Given the description of an element on the screen output the (x, y) to click on. 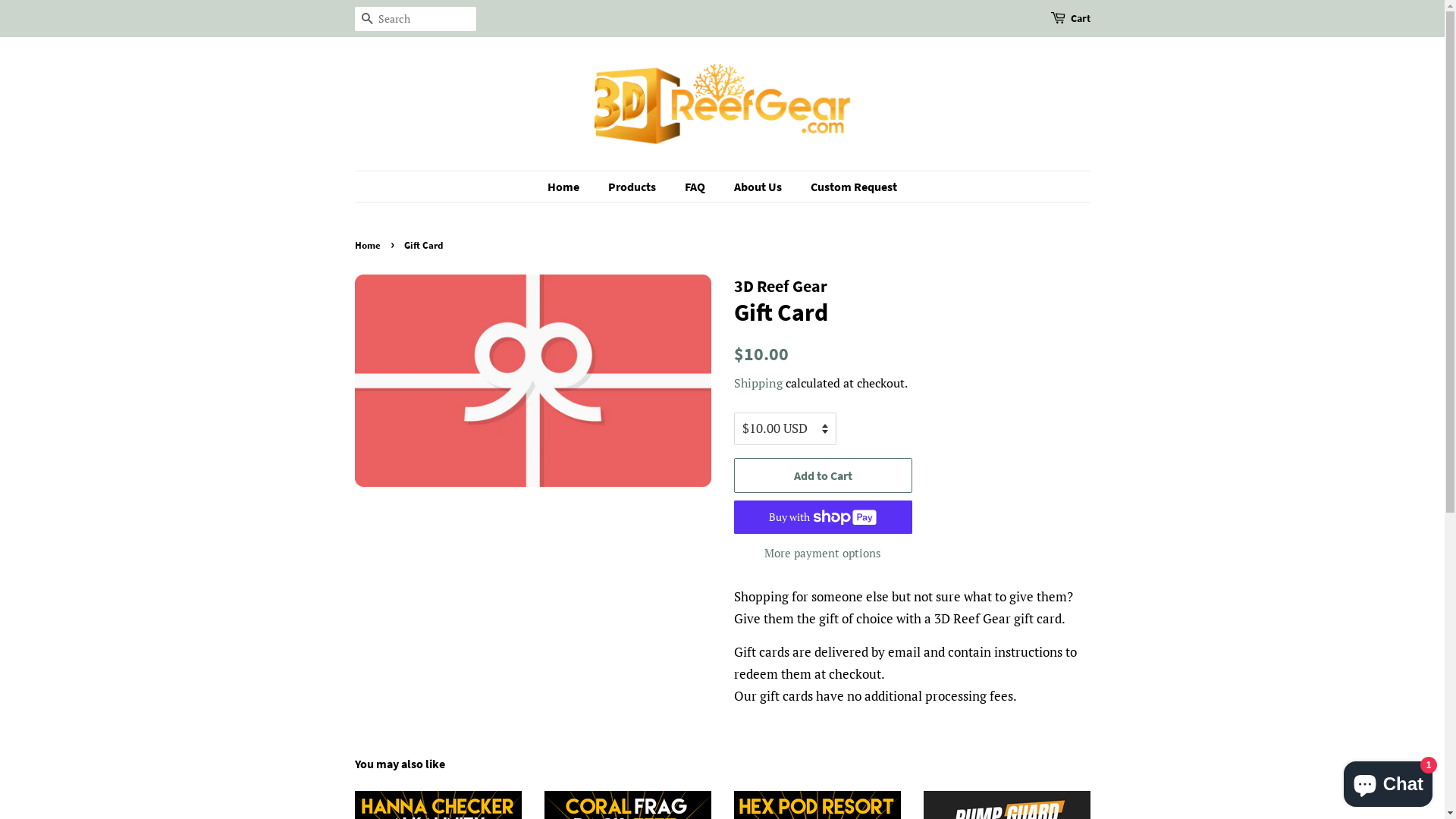
Search Element type: text (366, 18)
Cart Element type: text (1080, 18)
Home Element type: text (570, 186)
Add to Cart Element type: text (823, 475)
FAQ Element type: text (696, 186)
Home Element type: text (369, 244)
Shopify online store chat Element type: hover (1388, 780)
More payment options Element type: text (823, 552)
About Us Element type: text (759, 186)
Shipping Element type: text (758, 382)
Products Element type: text (633, 186)
Custom Request Element type: text (848, 186)
